Given the description of an element on the screen output the (x, y) to click on. 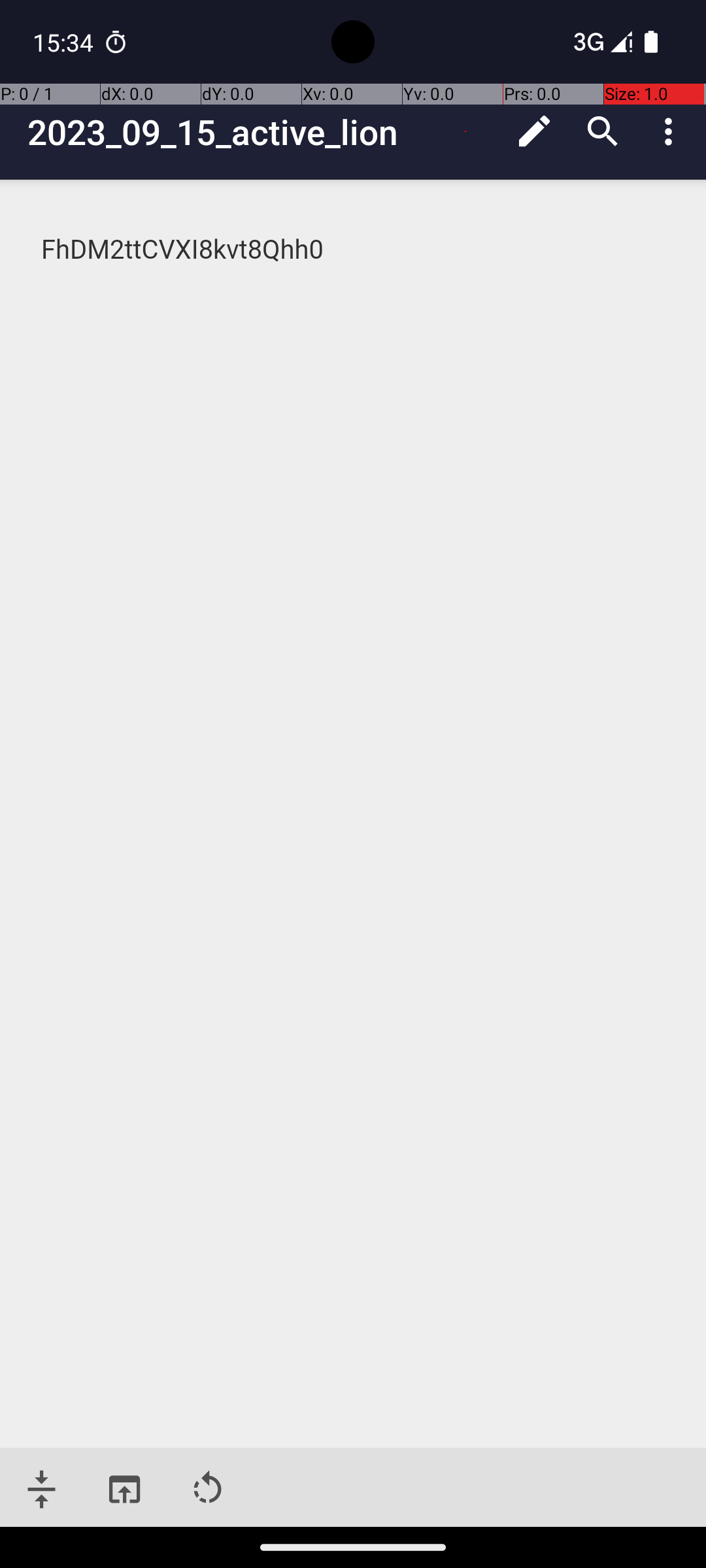
2023_09_15_active_lion Element type: android.widget.TextView (263, 131)
FhDM2ttCVXI8kvt8Qhh0
 Element type: android.widget.TextView (354, 249)
